Given the description of an element on the screen output the (x, y) to click on. 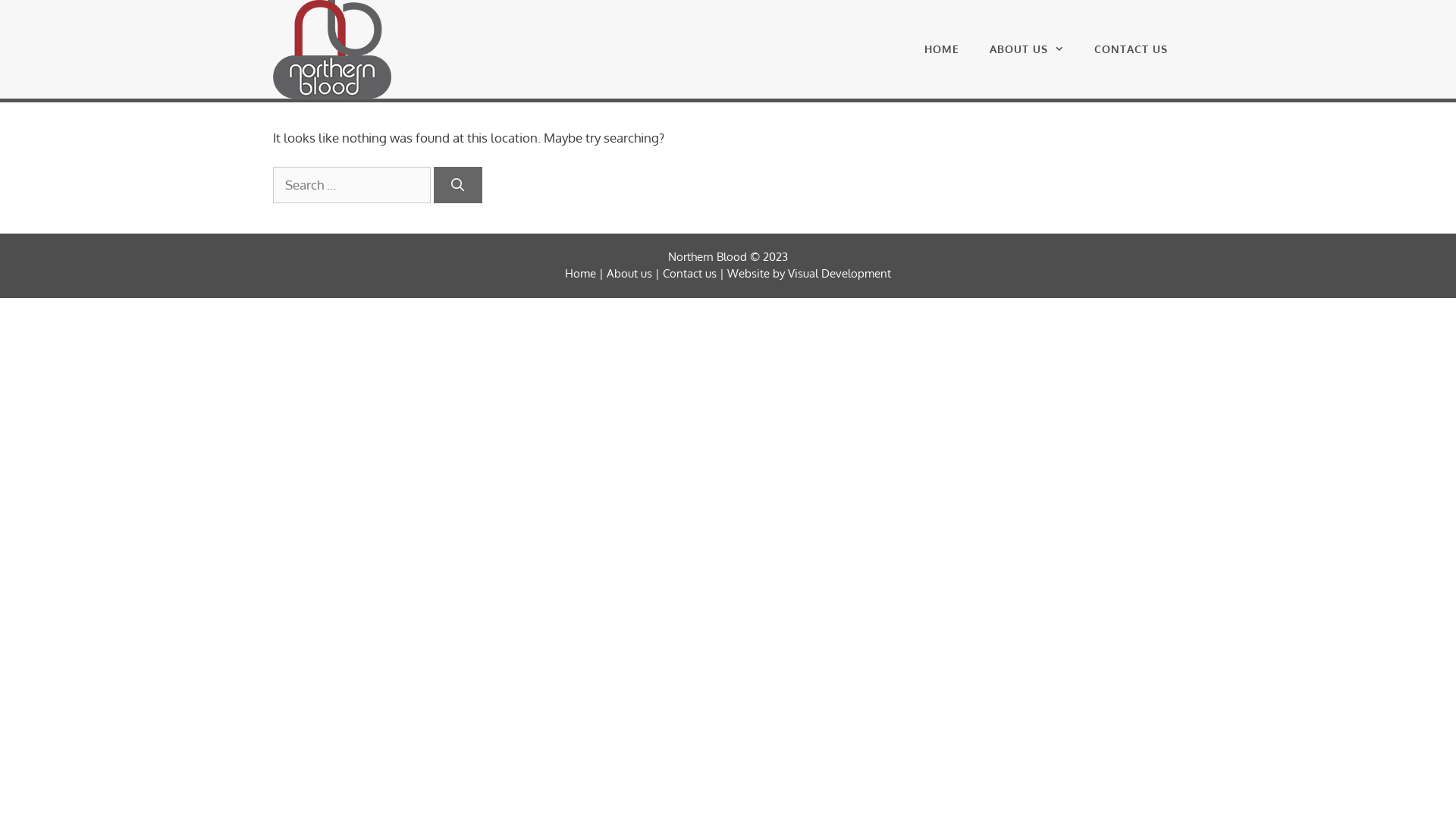
Home Element type: text (580, 273)
Search for: Element type: hover (351, 184)
About us Element type: text (629, 273)
CONTACT US Element type: text (1131, 49)
HOME Element type: text (941, 49)
ABOUT US Element type: text (1026, 49)
Website by Visual Development Element type: text (809, 273)
Contact us Element type: text (690, 273)
